Given the description of an element on the screen output the (x, y) to click on. 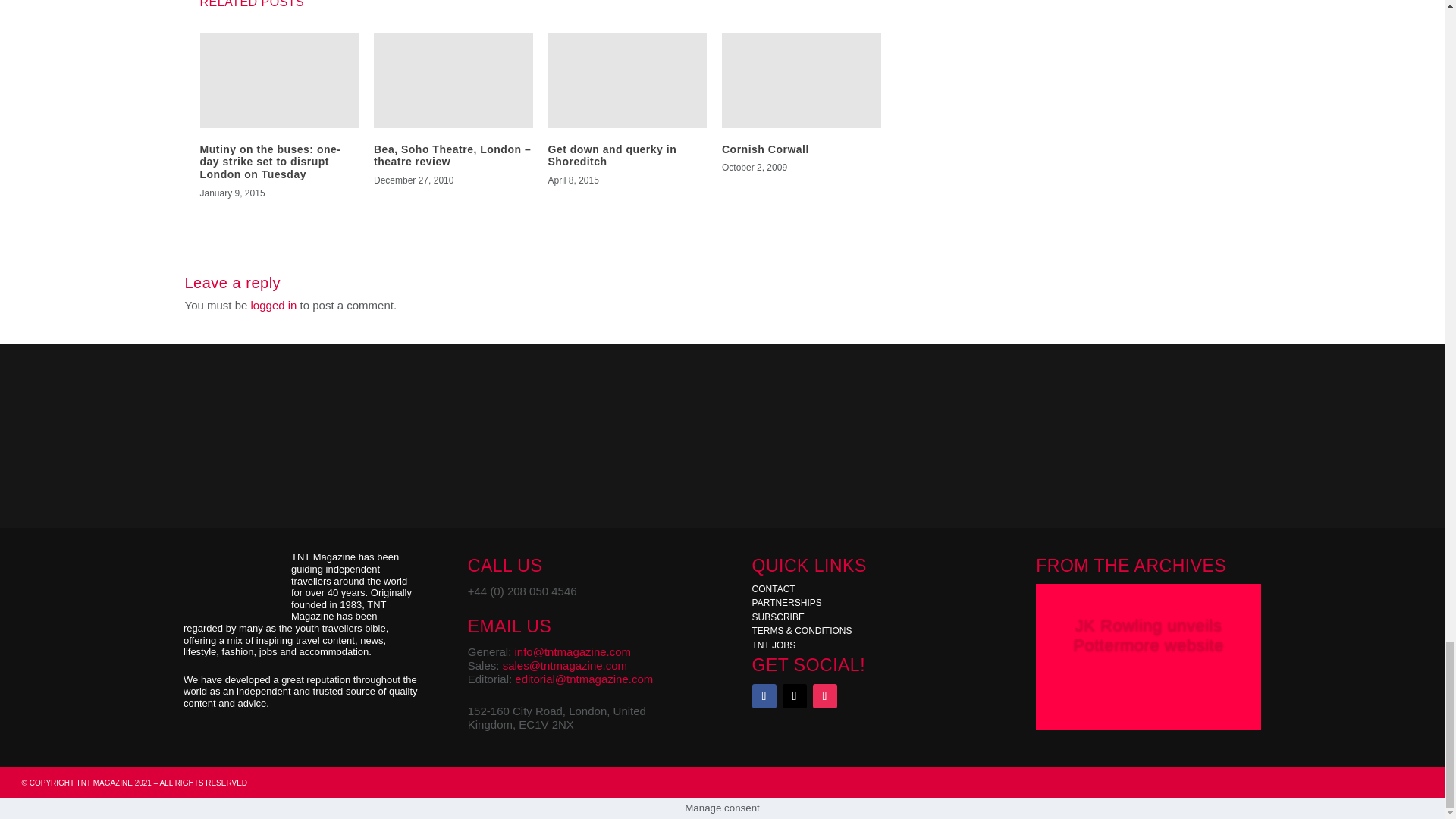
Get down and querky in Shoreditch (612, 155)
